Given the description of an element on the screen output the (x, y) to click on. 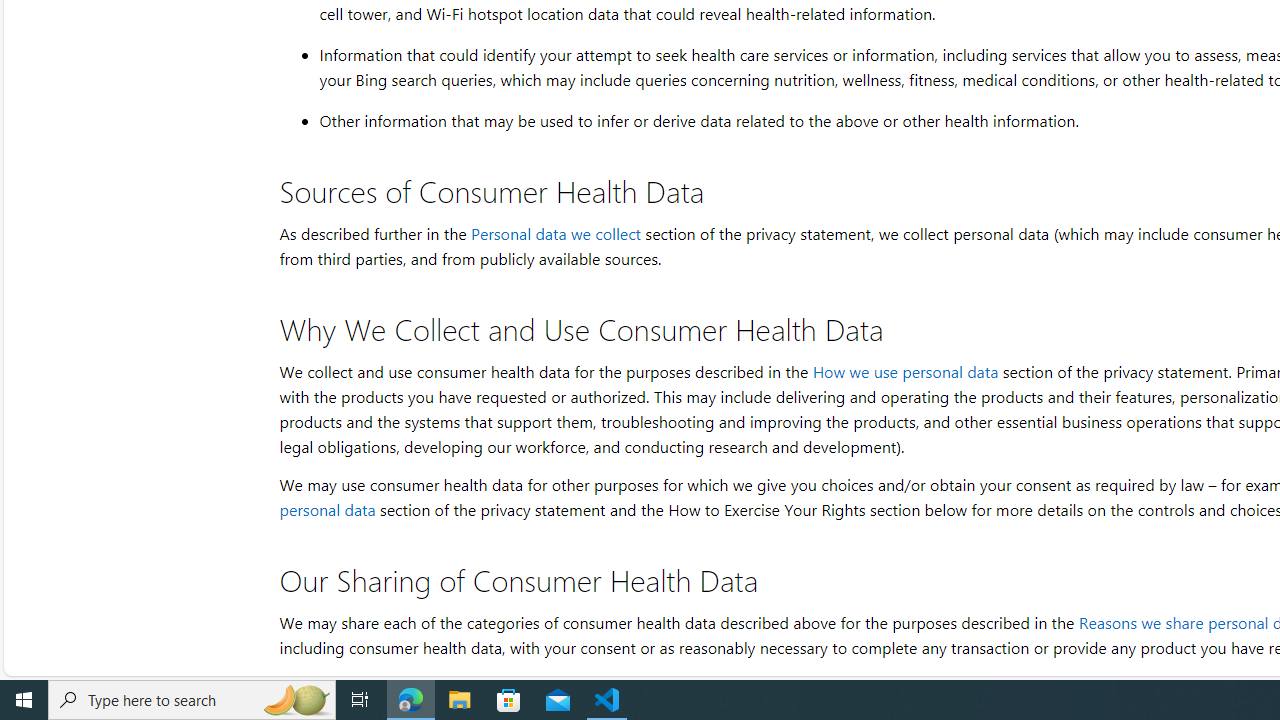
How we use personal data (904, 371)
Personal data we collect (555, 233)
